Given the description of an element on the screen output the (x, y) to click on. 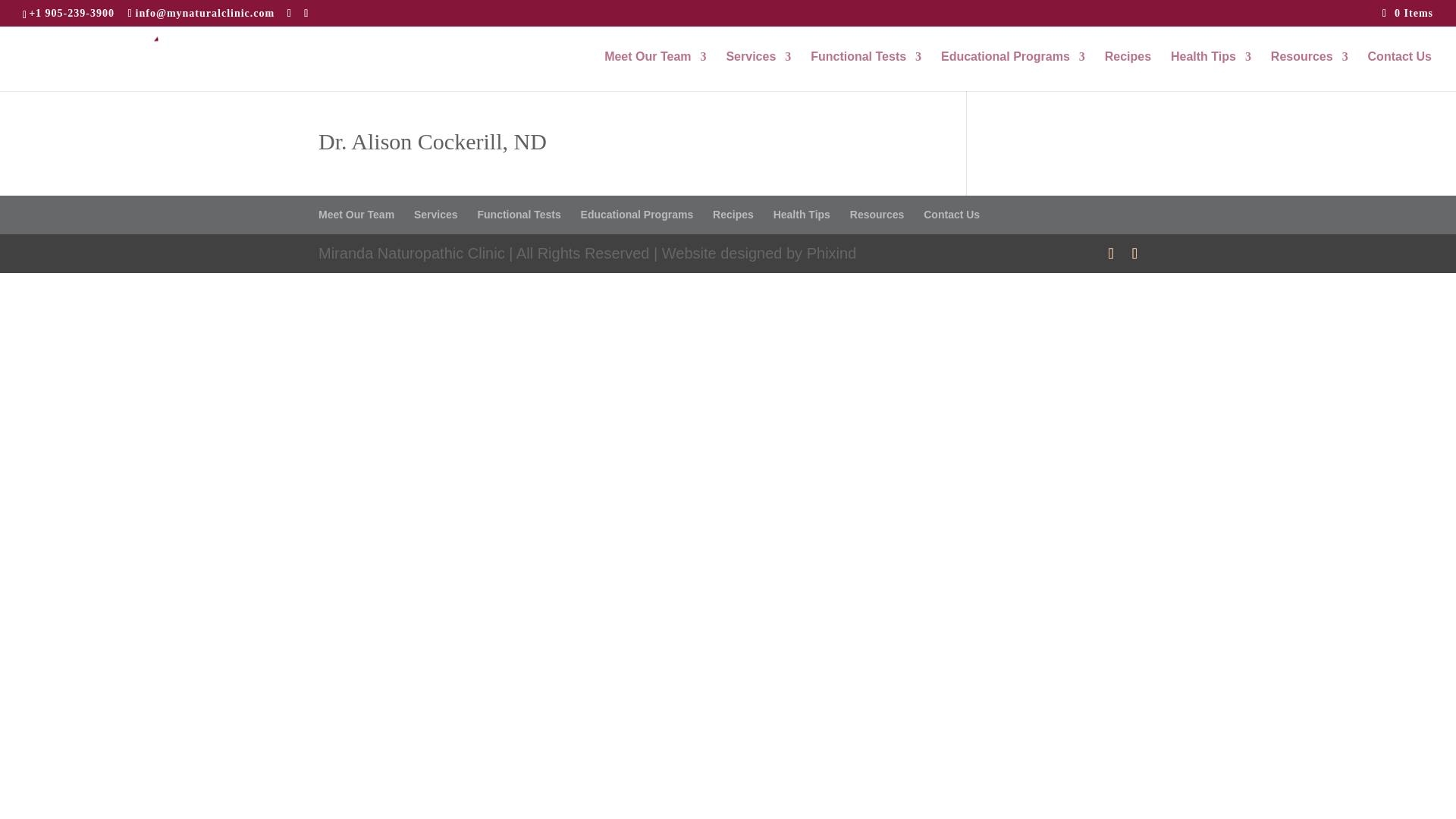
Resources (1309, 70)
Recipes (1128, 70)
Functional Tests (865, 70)
Meet Our Team (655, 70)
Educational Programs (1012, 70)
Health Tips (1210, 70)
Services (757, 70)
0 Items (1406, 12)
